Given the description of an element on the screen output the (x, y) to click on. 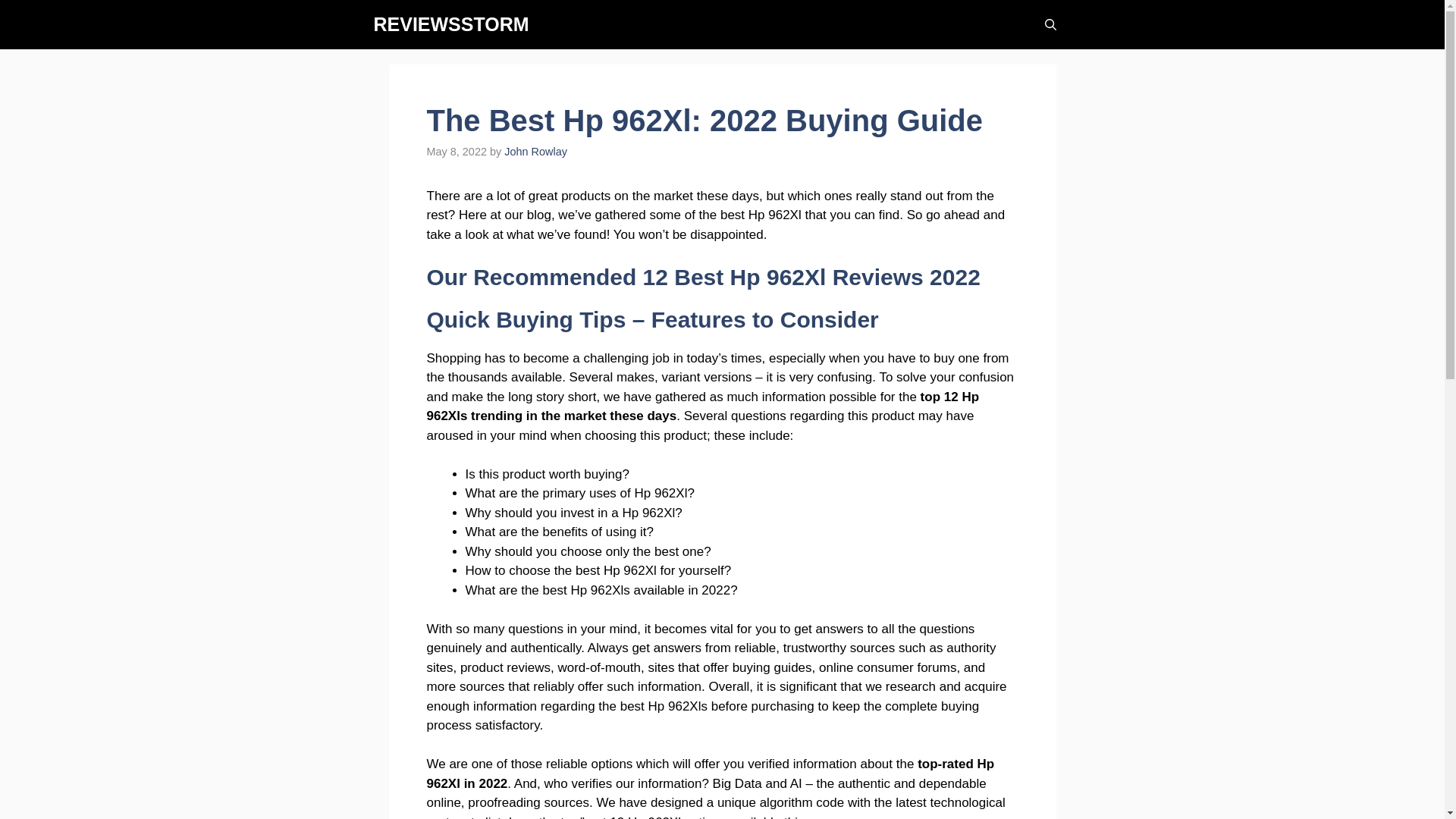
View all posts by John Rowlay (535, 151)
REVIEWSSTORM (450, 24)
John Rowlay (535, 151)
